Given the description of an element on the screen output the (x, y) to click on. 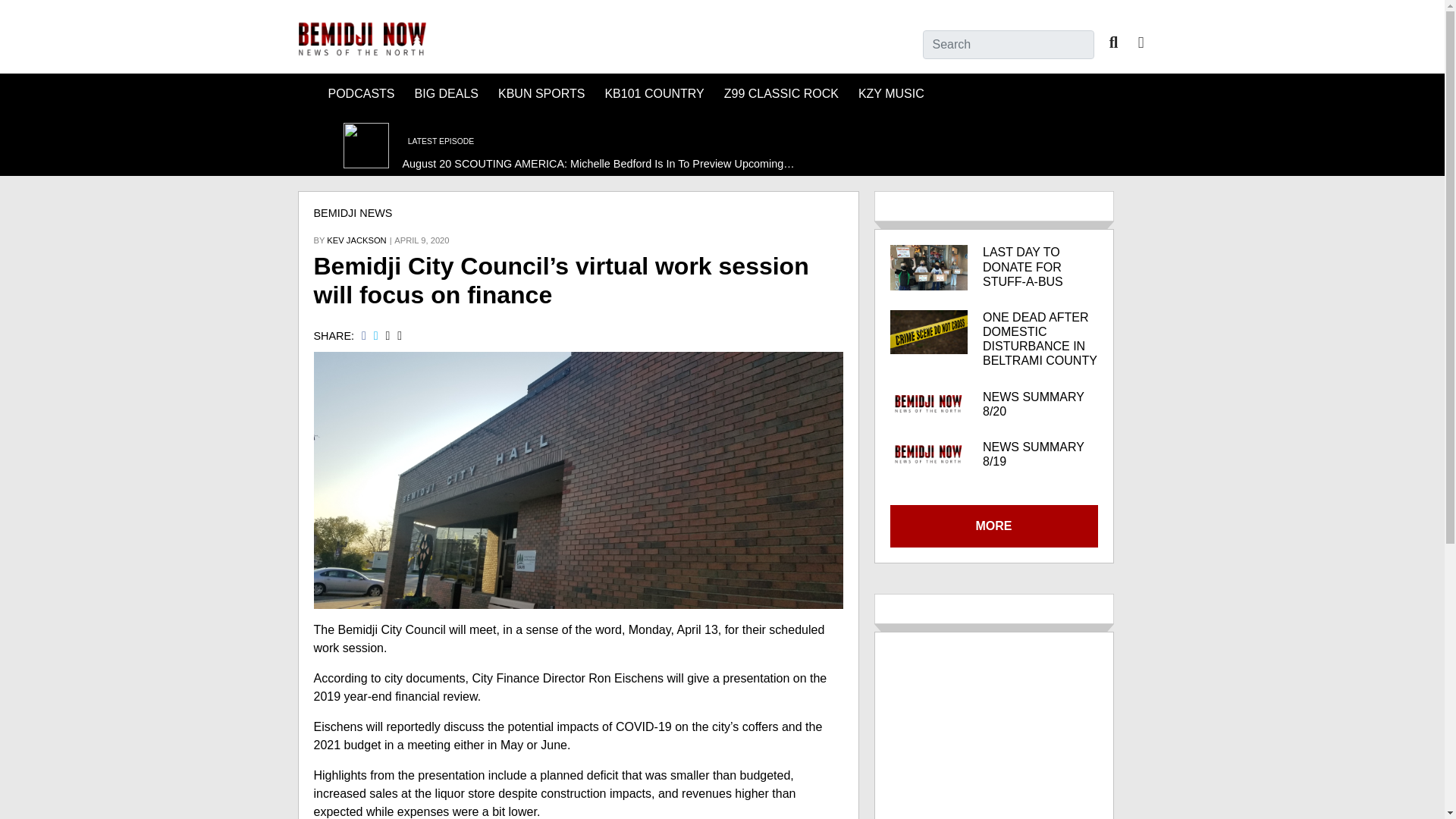
Podcasts (360, 93)
KEV JACKSON (355, 239)
KBUN Sports (541, 93)
PODCASTS (360, 93)
KB101 Country (654, 93)
Z99 Classic Rock (780, 93)
KZY MUSIC (890, 93)
Big Deals (446, 93)
BEMIDJI NEWS (353, 213)
KZY Music (890, 93)
